Given the description of an element on the screen output the (x, y) to click on. 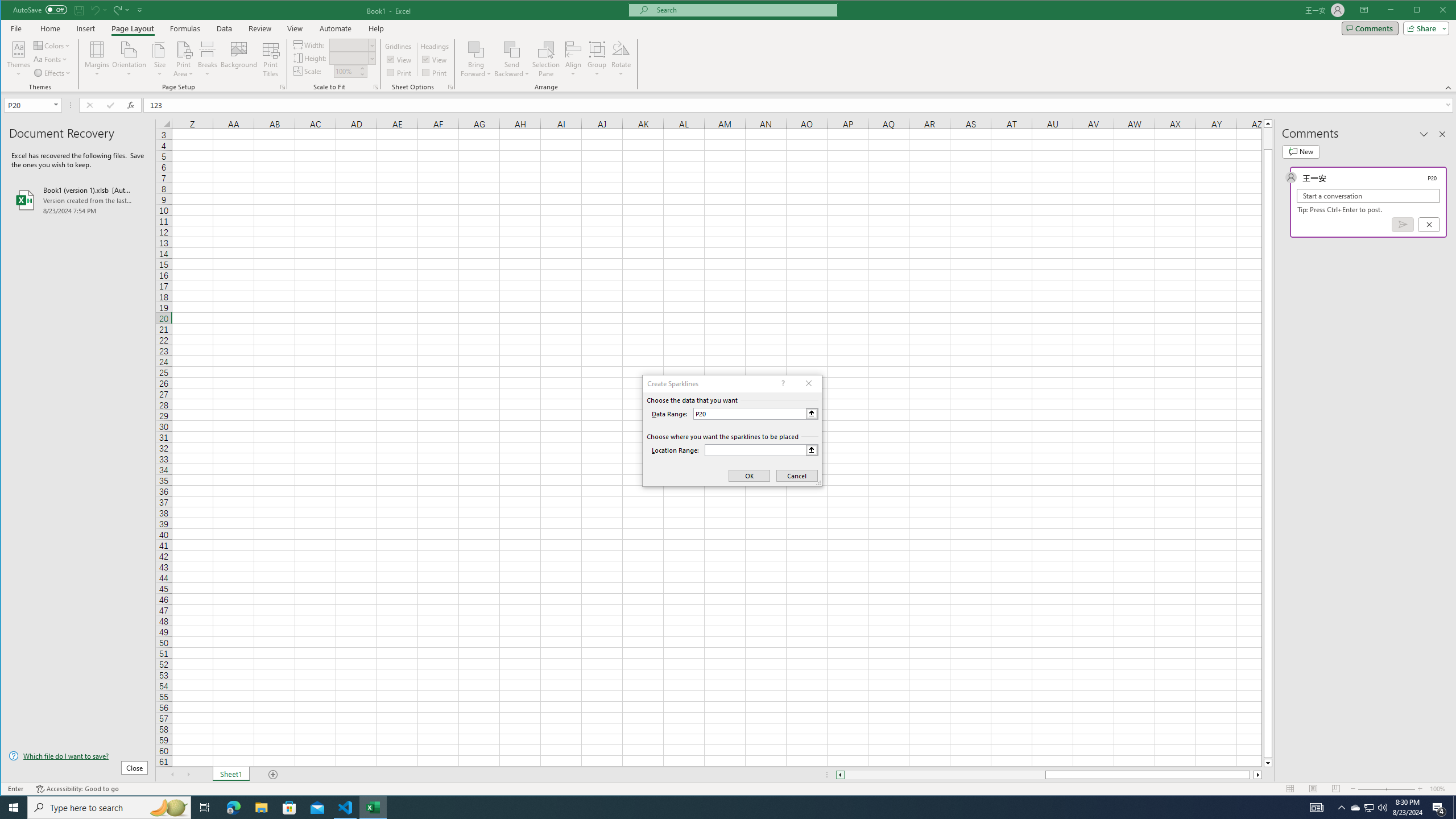
Redo (120, 9)
Line up (1267, 122)
Start a conversation (1368, 195)
Customize Quick Access Toolbar (140, 9)
System (11, 10)
Post comment (Ctrl + Enter) (1402, 224)
Background... (239, 59)
Minimize (1419, 11)
New comment (1300, 151)
Name Box (27, 104)
Undo (98, 9)
Rotate (620, 59)
Automate (336, 28)
More (361, 68)
